Given the description of an element on the screen output the (x, y) to click on. 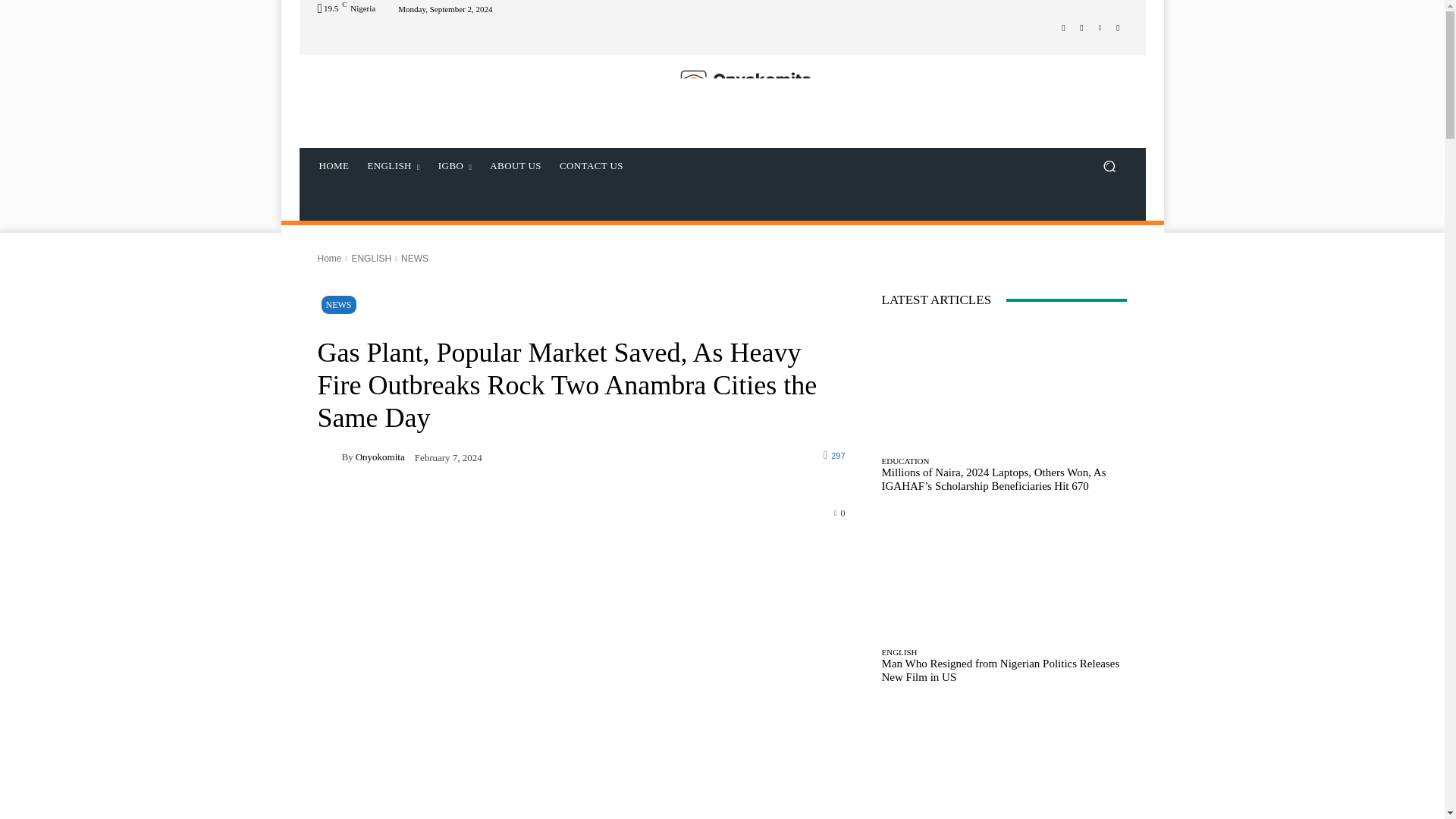
View all posts in NEWS (414, 258)
Youtube (1117, 27)
onyokomita (328, 456)
Facebook (1062, 27)
HOME (333, 166)
Twitter (1099, 27)
View all posts in ENGLISH (370, 258)
ENGLISH (393, 166)
Instagram (1080, 27)
